Given the description of an element on the screen output the (x, y) to click on. 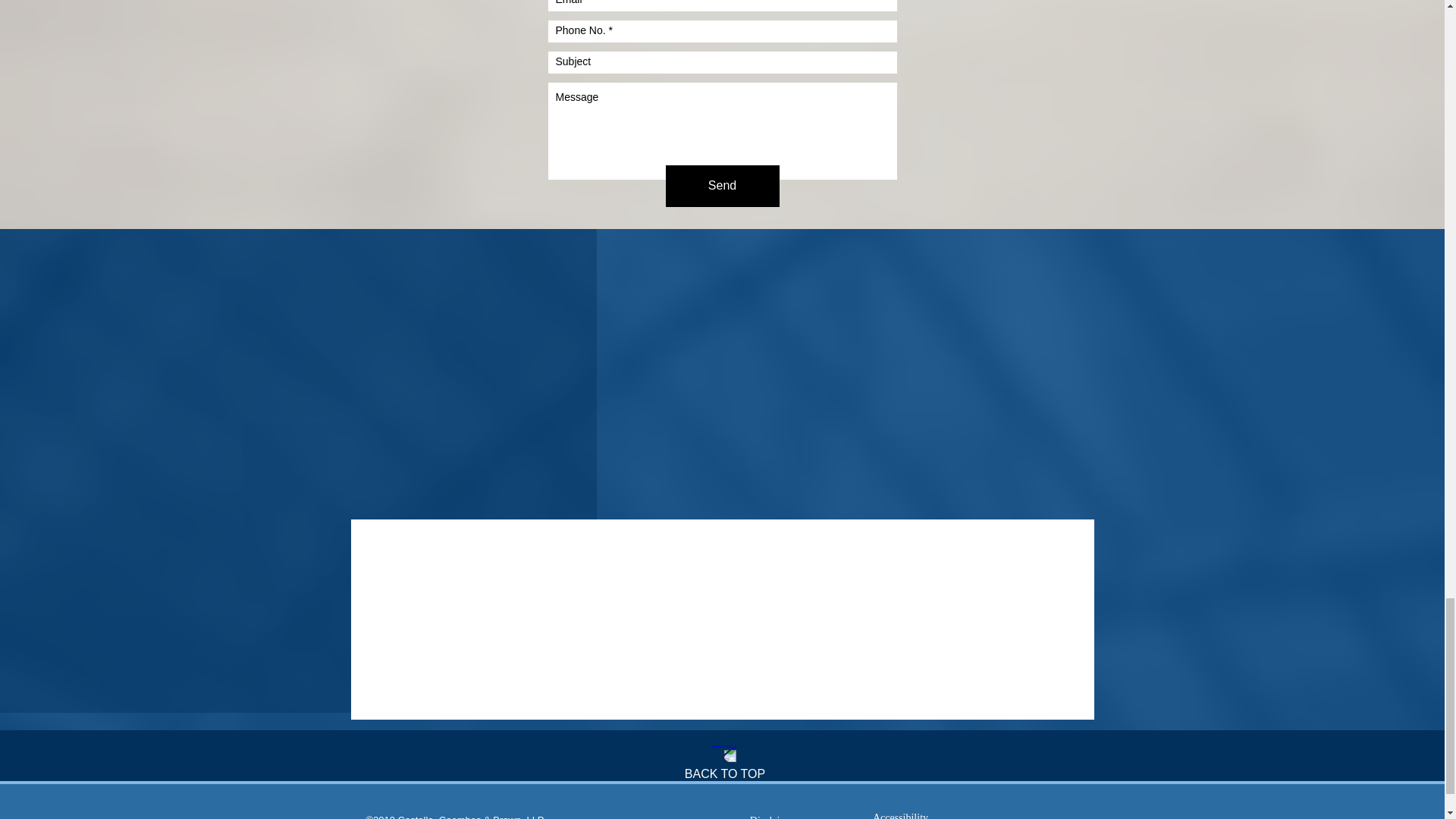
Send (721, 186)
Disclaimer (773, 812)
BACK TO TOP (724, 773)
Accessibility (899, 811)
